Given the description of an element on the screen output the (x, y) to click on. 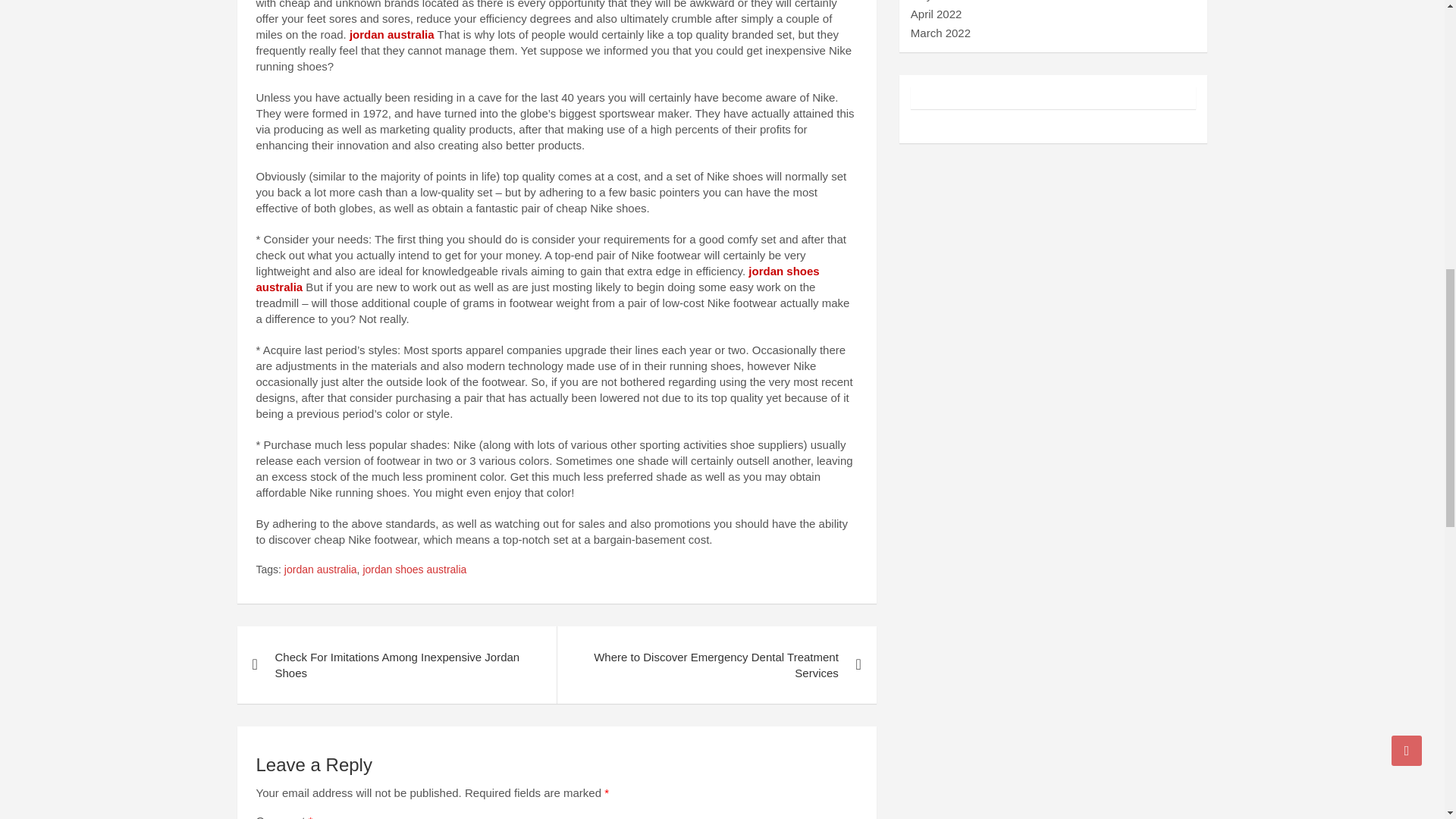
jordan australia (319, 570)
jordan shoes australia (413, 570)
Where to Discover Emergency Dental Treatment Services (716, 664)
jordan shoes australia (537, 278)
jordan australia (391, 33)
Check For Imitations Among Inexpensive Jordan Shoes (395, 664)
